Given the description of an element on the screen output the (x, y) to click on. 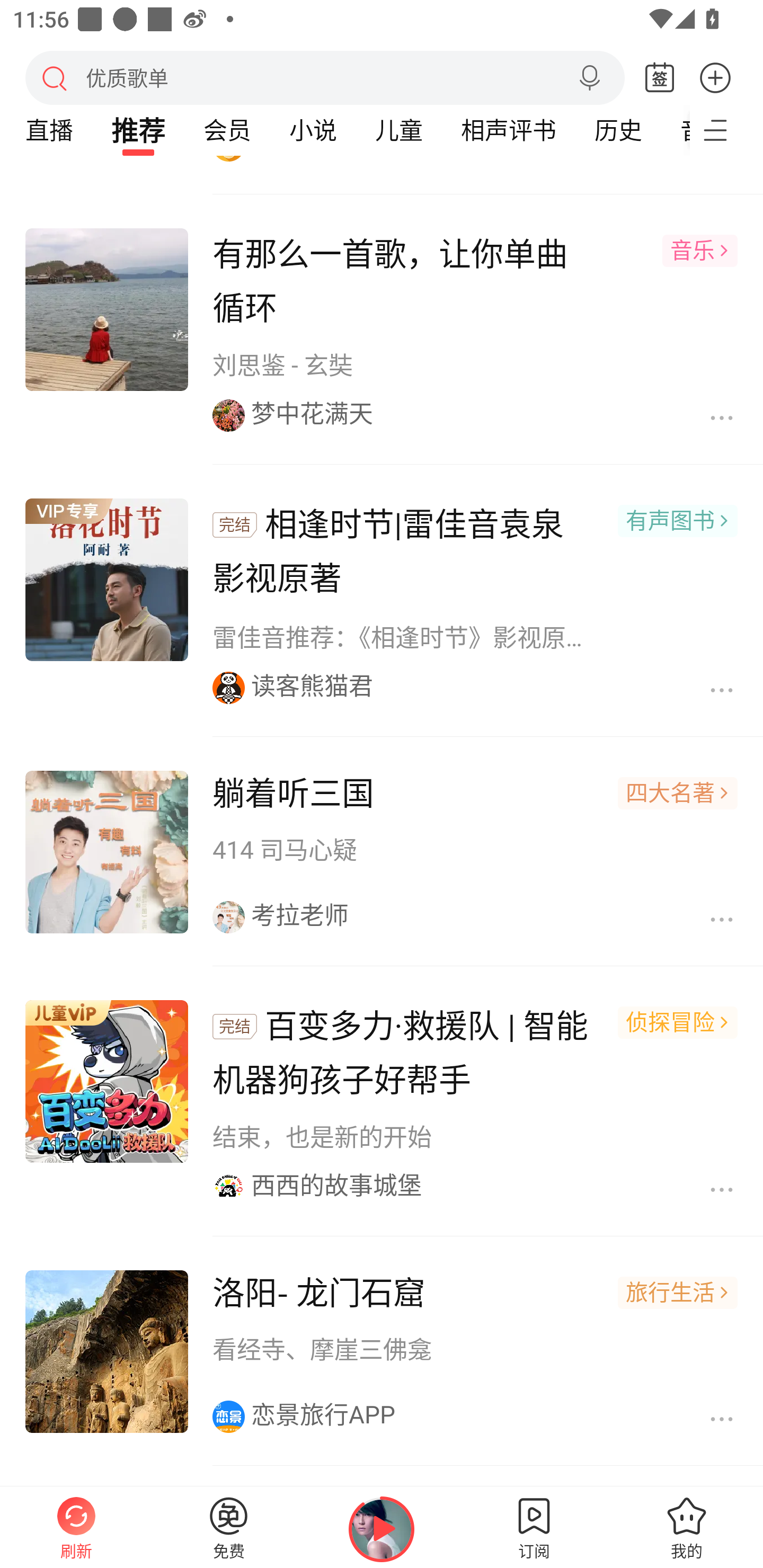
搜索 优质歌单 语音搜索 (324, 77)
更多 (714, 77)
签到 (659, 78)
语音搜索 (589, 78)
直播 (49, 130)
推荐 (138, 130)
会员 (227, 130)
小说 (313, 130)
儿童 (398, 130)
相声评书 (508, 130)
历史 (618, 130)
更多频道 (726, 130)
有那么一首歌，让你单曲循环 音乐    刘思鉴 - 玄奘 梦中花满天 (381, 330)
躺着听三国 四大名著    414 司马心疑 考拉老师 (381, 852)
完结 百变多力·救援队 | 智能机器狗孩子好帮手 侦探冒险    结束，也是新的开始 西西的故事城堡 (381, 1102)
洛阳- 龙门石窟 旅行生活    看经寺、摩崖三佛龛 恋景旅行APP (381, 1352)
刷新 (76, 1526)
免费 (228, 1526)
订阅 (533, 1526)
我的 (686, 1526)
继续播放Alpha-橘子海OrangeOcean (381, 1529)
